Given the description of an element on the screen output the (x, y) to click on. 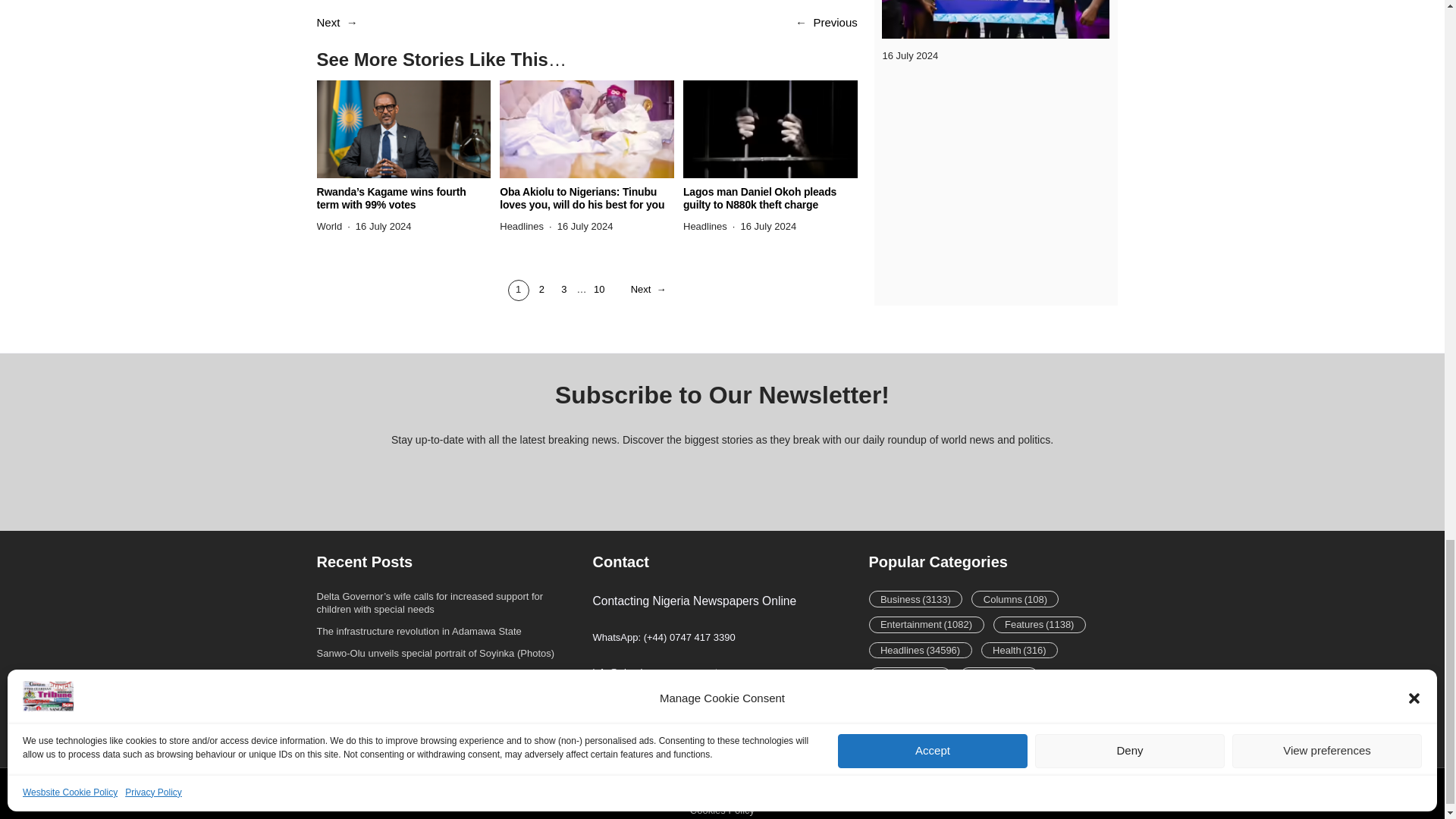
Previous (834, 21)
World (329, 225)
Headlines (521, 225)
Lagos man Daniel Okoh pleads guilty to N880k theft charge (769, 198)
Next (328, 21)
